Given the description of an element on the screen output the (x, y) to click on. 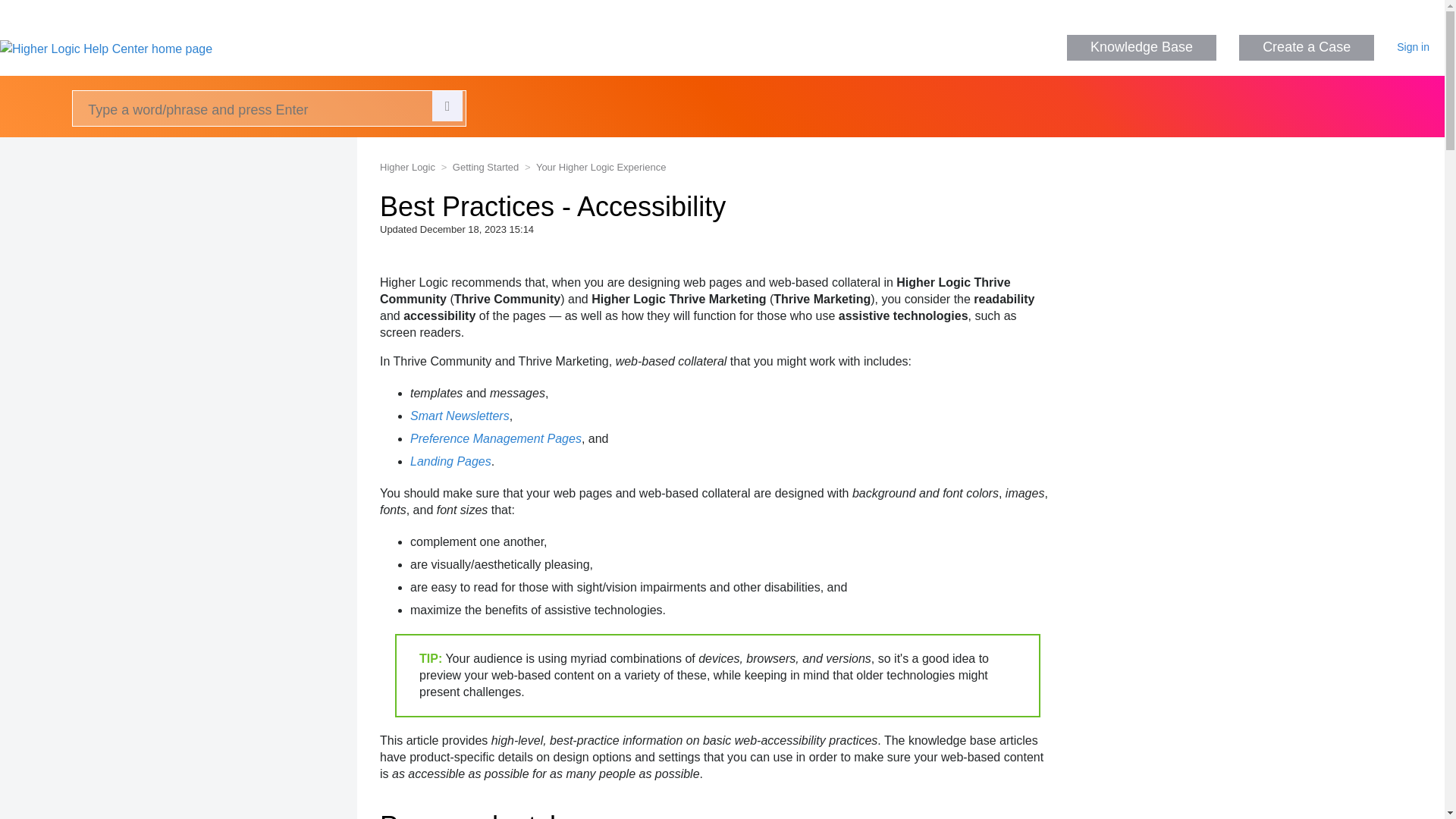
Create a Case (1306, 47)
Preference Management Pages (495, 438)
Knowledge Base (1141, 47)
2023-12-18T15:14:05Z (477, 229)
Landing Pages (451, 461)
Higher Logic (407, 166)
Home (106, 48)
Your Higher Logic Experience (600, 166)
Your Higher Logic Experience (593, 166)
Best Practices - Accessibility (717, 206)
